Given the description of an element on the screen output the (x, y) to click on. 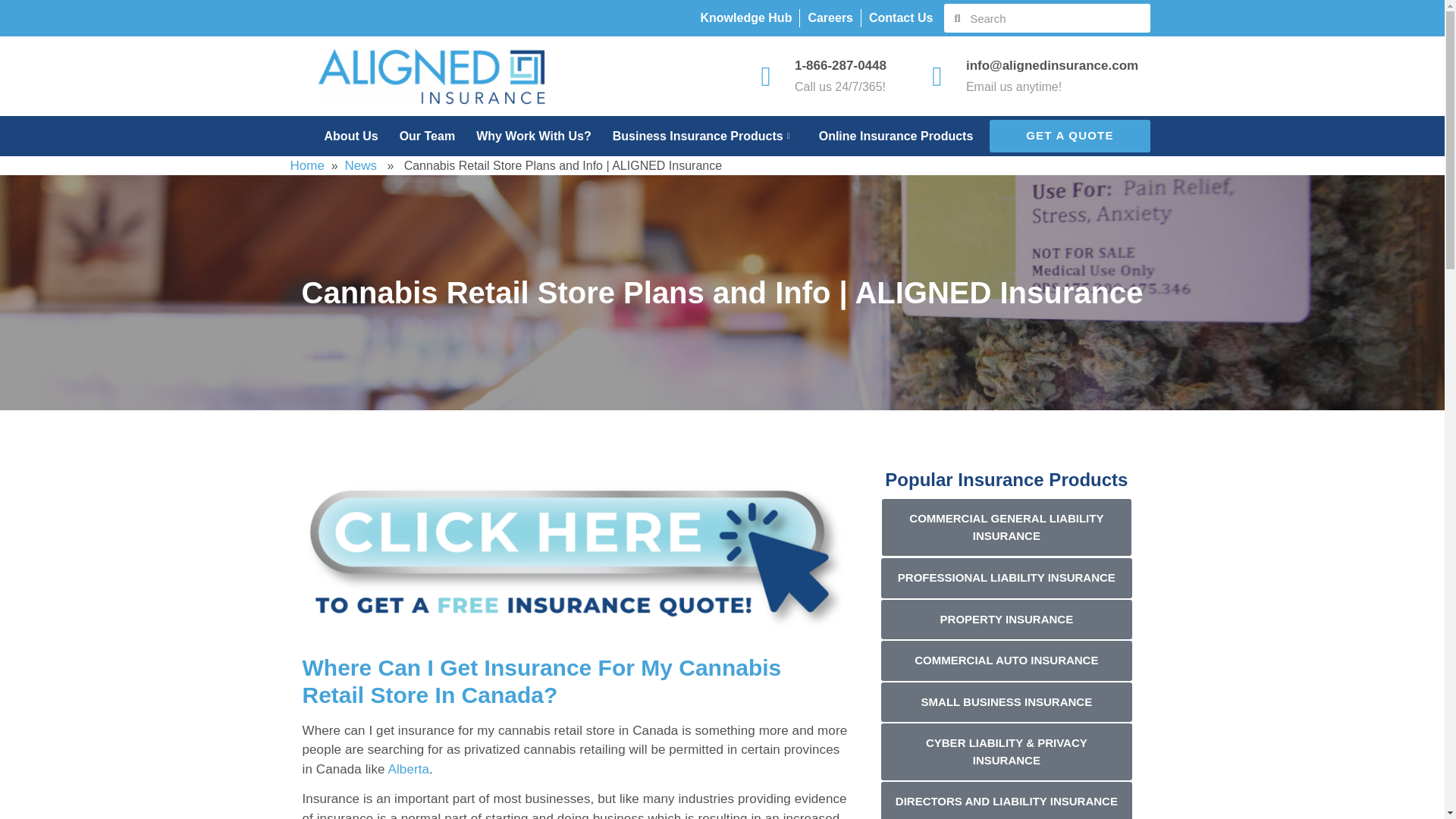
Final-Aligned-Logo-1 (432, 75)
1-866-287-0448 (840, 65)
Business Insurance Products (694, 135)
Why Work With Us? (522, 135)
Careers (830, 18)
Online Insurance Products (885, 135)
Knowledge Hub (746, 18)
GET A QUOTE (1070, 135)
Contact Us (901, 18)
About Us (340, 135)
Our Team (416, 135)
